Given the description of an element on the screen output the (x, y) to click on. 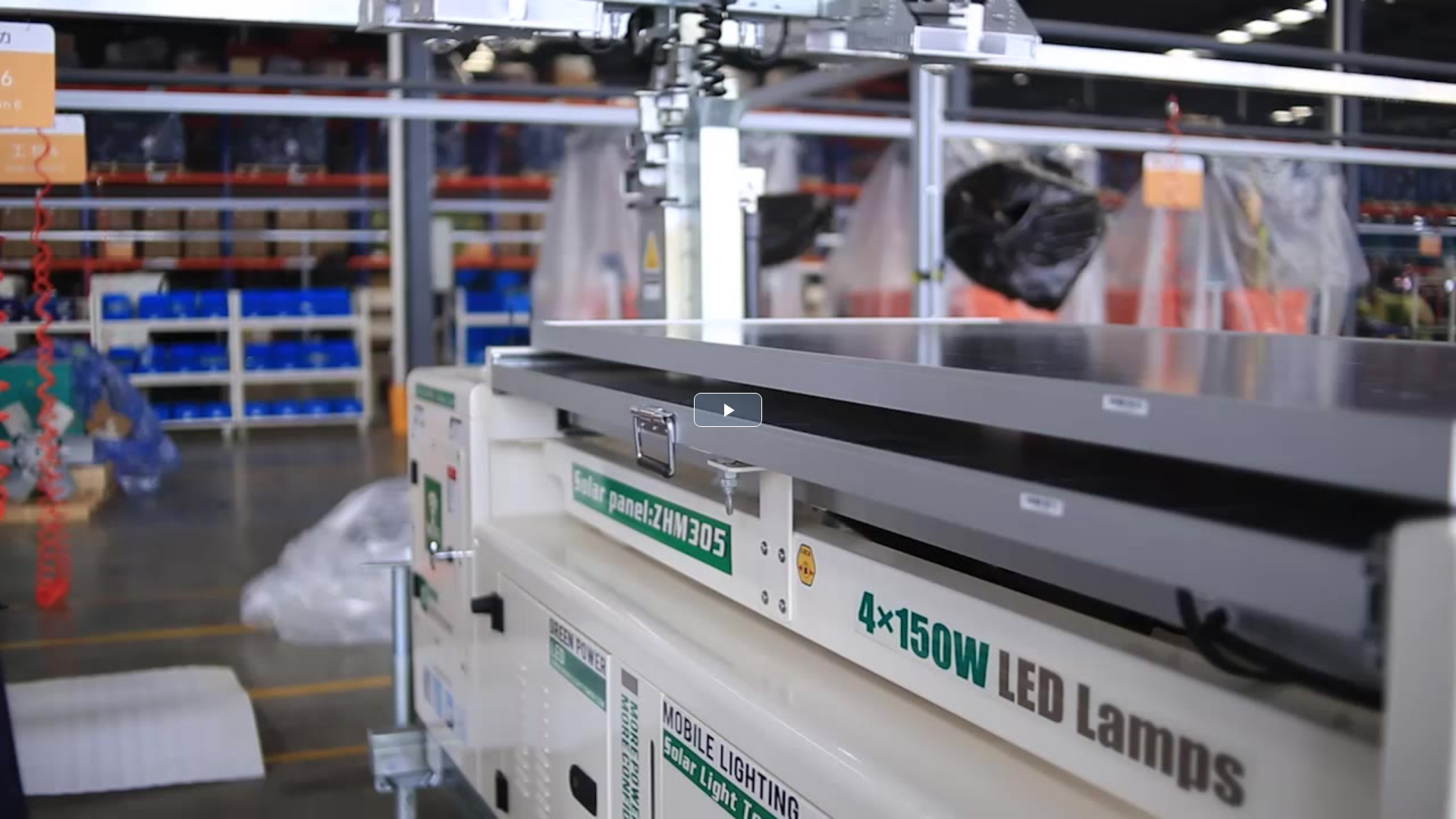
Play Video Element type: text (727, 409)
